Given the description of an element on the screen output the (x, y) to click on. 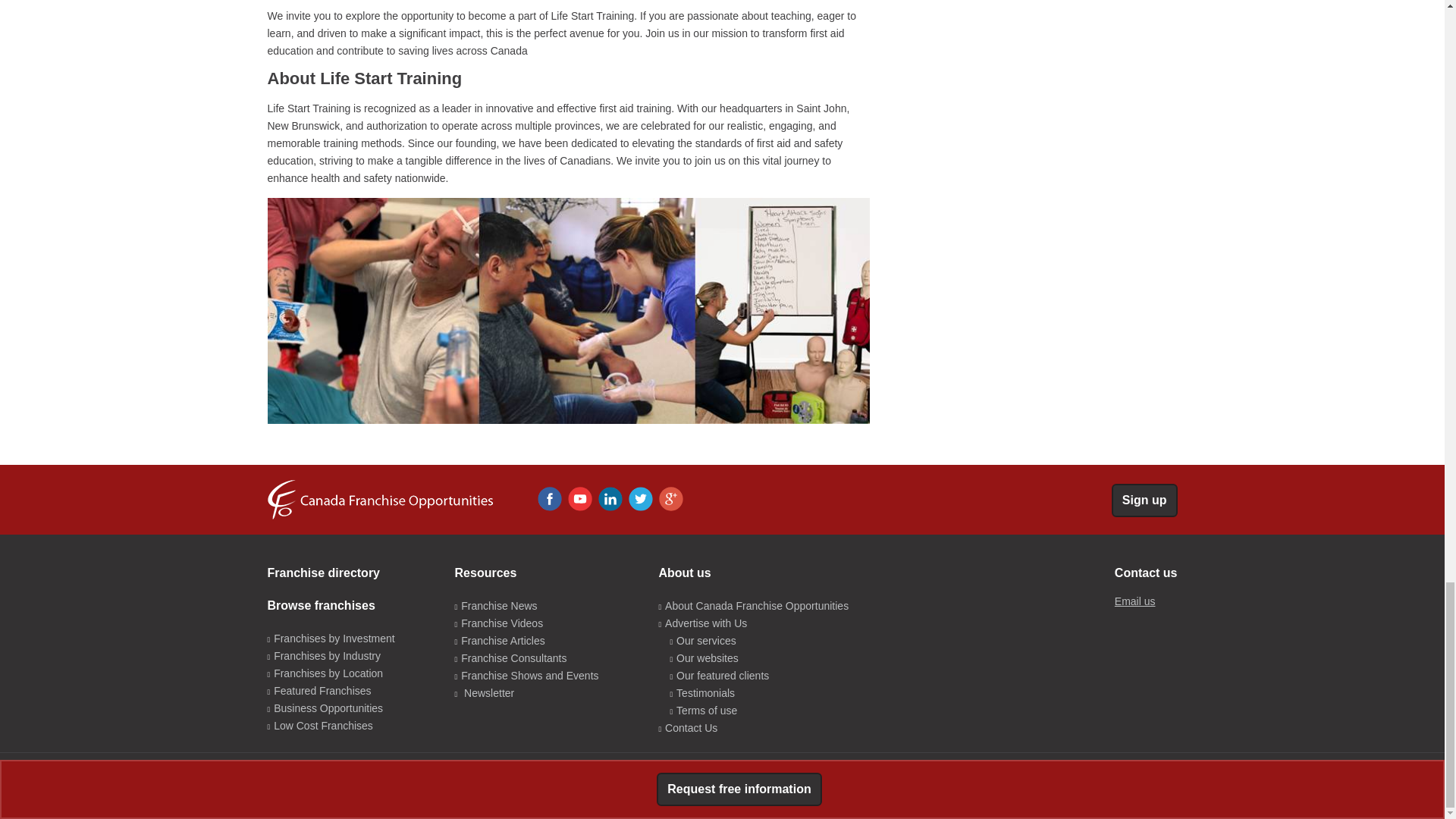
Visit our Twitter page (640, 498)
Visit our YouTube page (580, 498)
Visit our Linkedin page (609, 498)
Visit our Facebook page (549, 498)
